Given the description of an element on the screen output the (x, y) to click on. 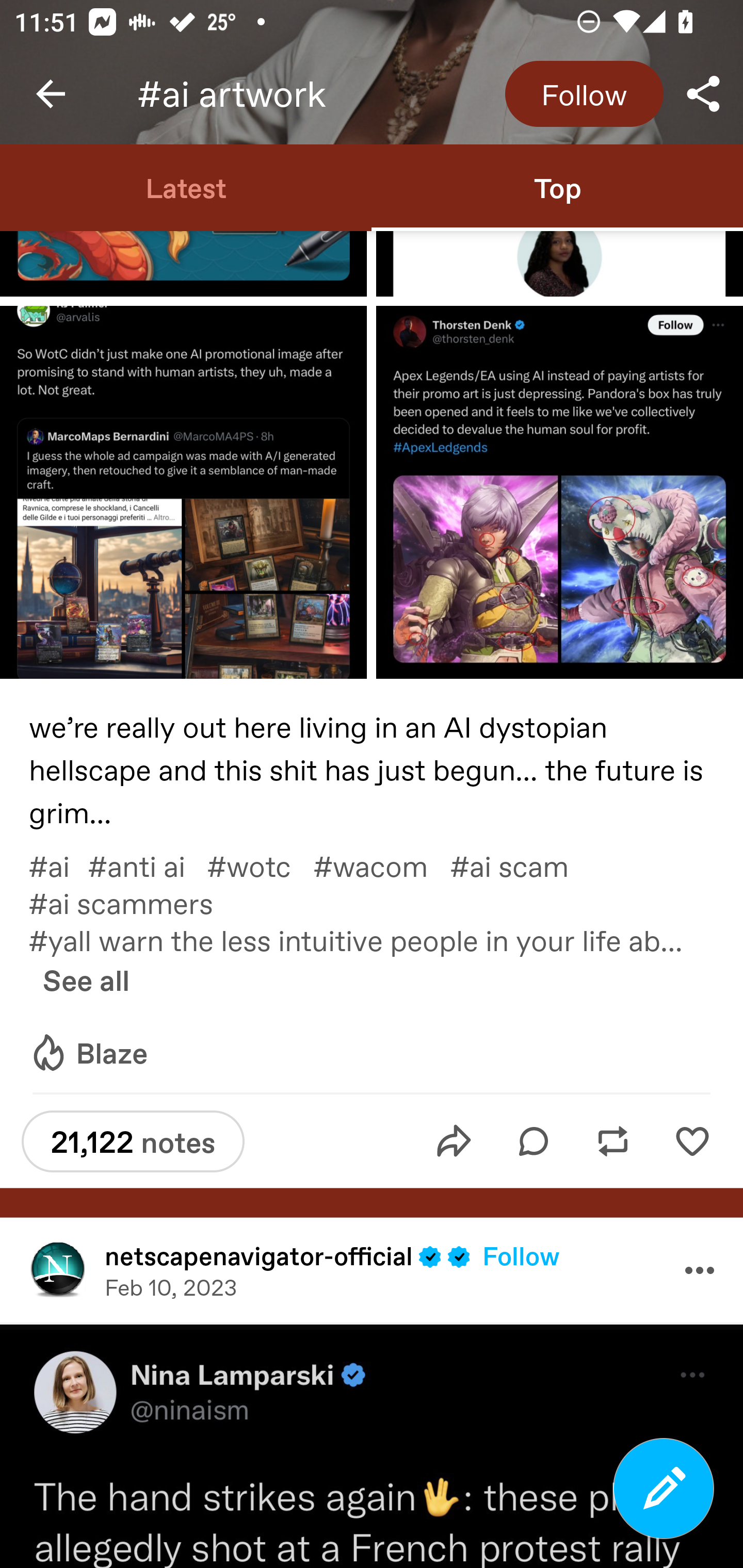
Navigate up (50, 93)
Follow (584, 94)
Latest (185, 187)
#ai (57, 865)
#anti ai (146, 865)
#wotc (259, 865)
#wacom (381, 865)
#ai scam (519, 865)
#ai scammers (131, 902)
See all (86, 979)
Blaze Blaze Blaze (88, 1053)
Share post to message (454, 1141)
Reply (533, 1141)
Reblog (612, 1141)
Like (691, 1141)
21,122 notes (132, 1141)
Follow (520, 1255)
Compose a new post (663, 1488)
